Given the description of an element on the screen output the (x, y) to click on. 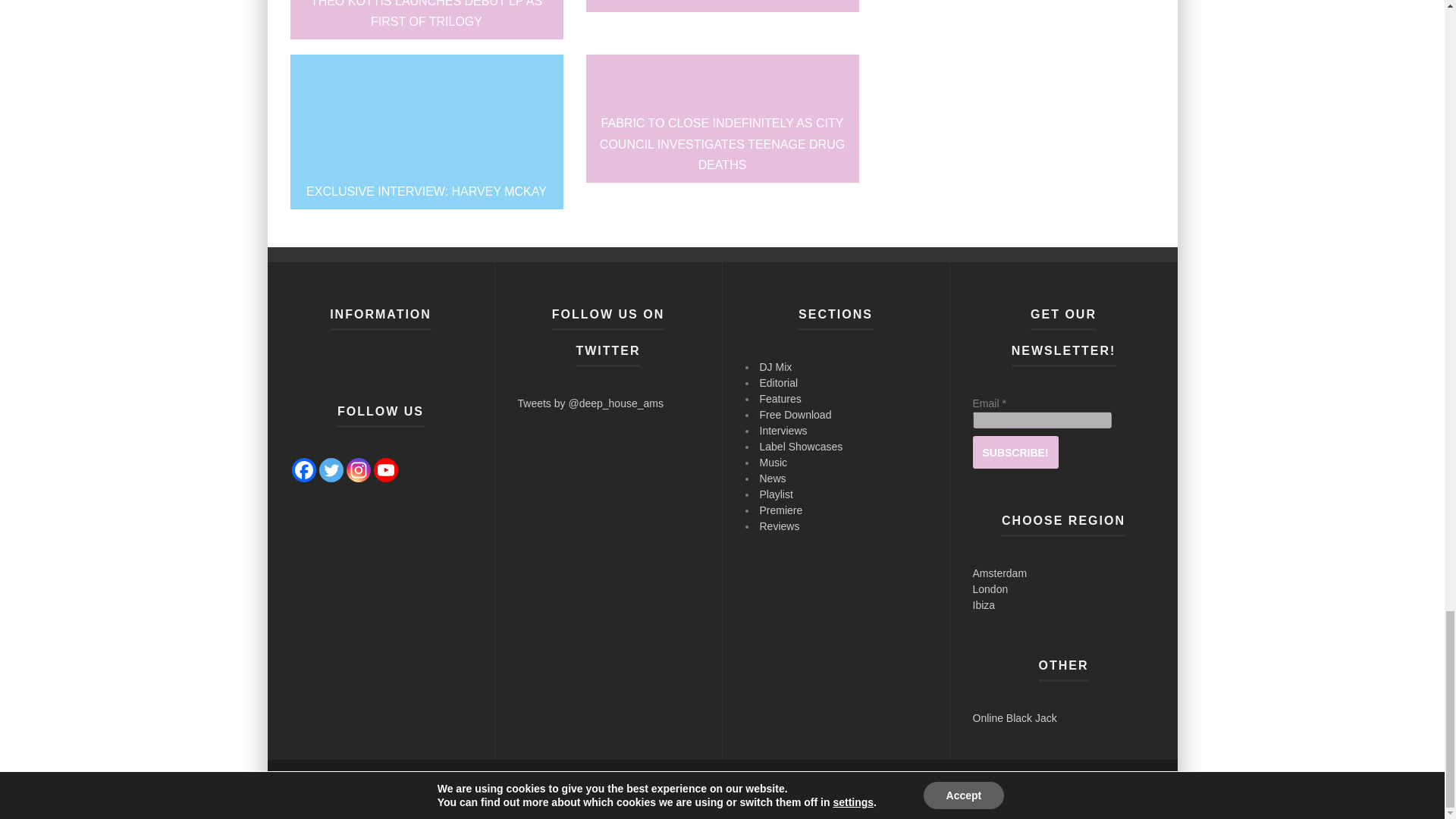
Twitter (330, 469)
Instagram (357, 469)
News (958, 788)
Youtube (384, 469)
Facebook (303, 469)
